Given the description of an element on the screen output the (x, y) to click on. 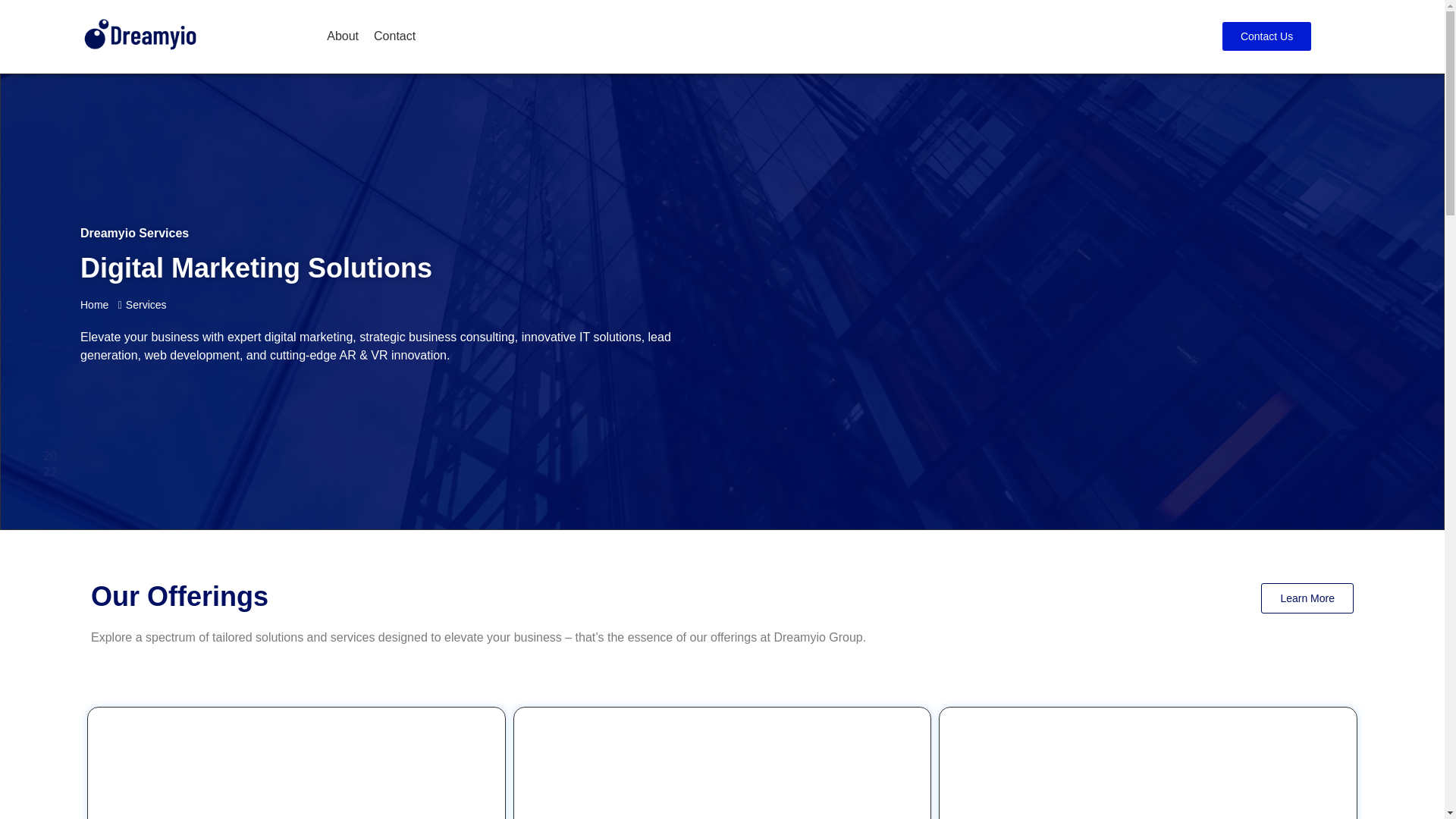
Contact Us (1267, 36)
About (342, 36)
Contact (394, 36)
Services (136, 304)
Home (93, 304)
Learn More (1307, 598)
